Given the description of an element on the screen output the (x, y) to click on. 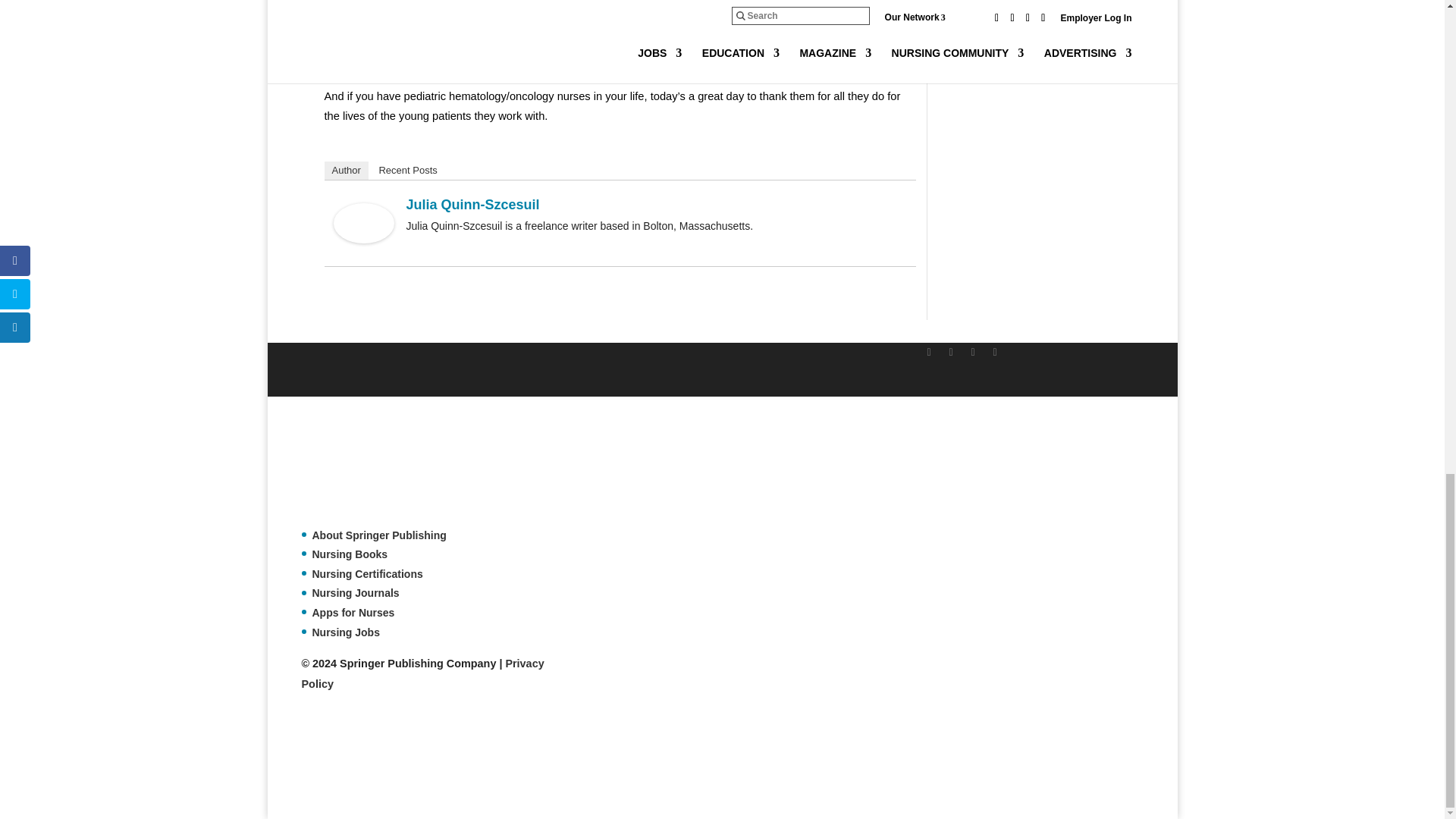
Springer Publishing Company (376, 469)
